Given the description of an element on the screen output the (x, y) to click on. 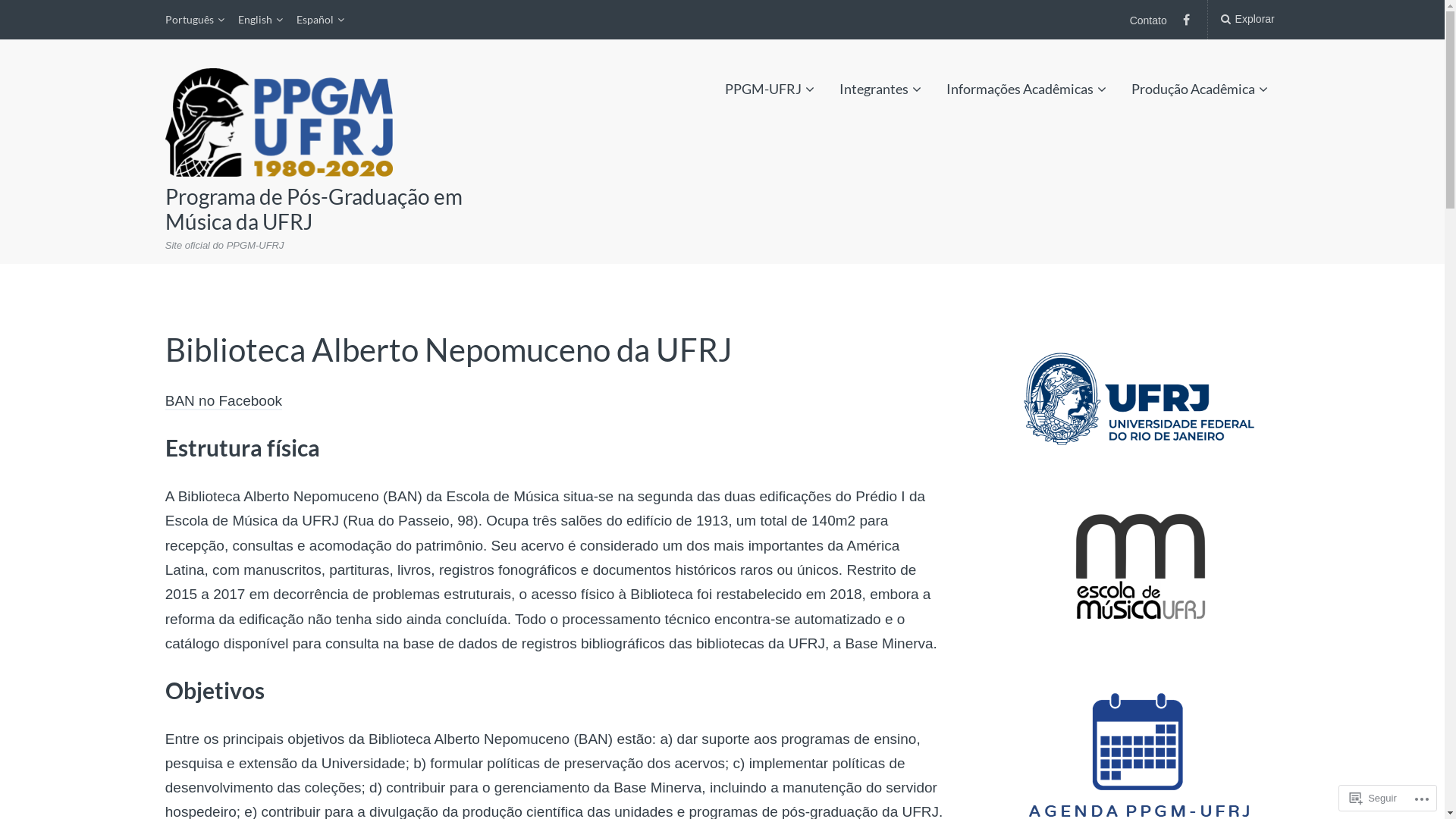
Contato Element type: text (1148, 20)
PPGM-UFRJ Element type: text (769, 89)
Integrantes Element type: text (880, 89)
English Element type: text (260, 19)
BAN no Facebook Element type: text (223, 401)
Seguir Element type: text (1372, 797)
